Given the description of an element on the screen output the (x, y) to click on. 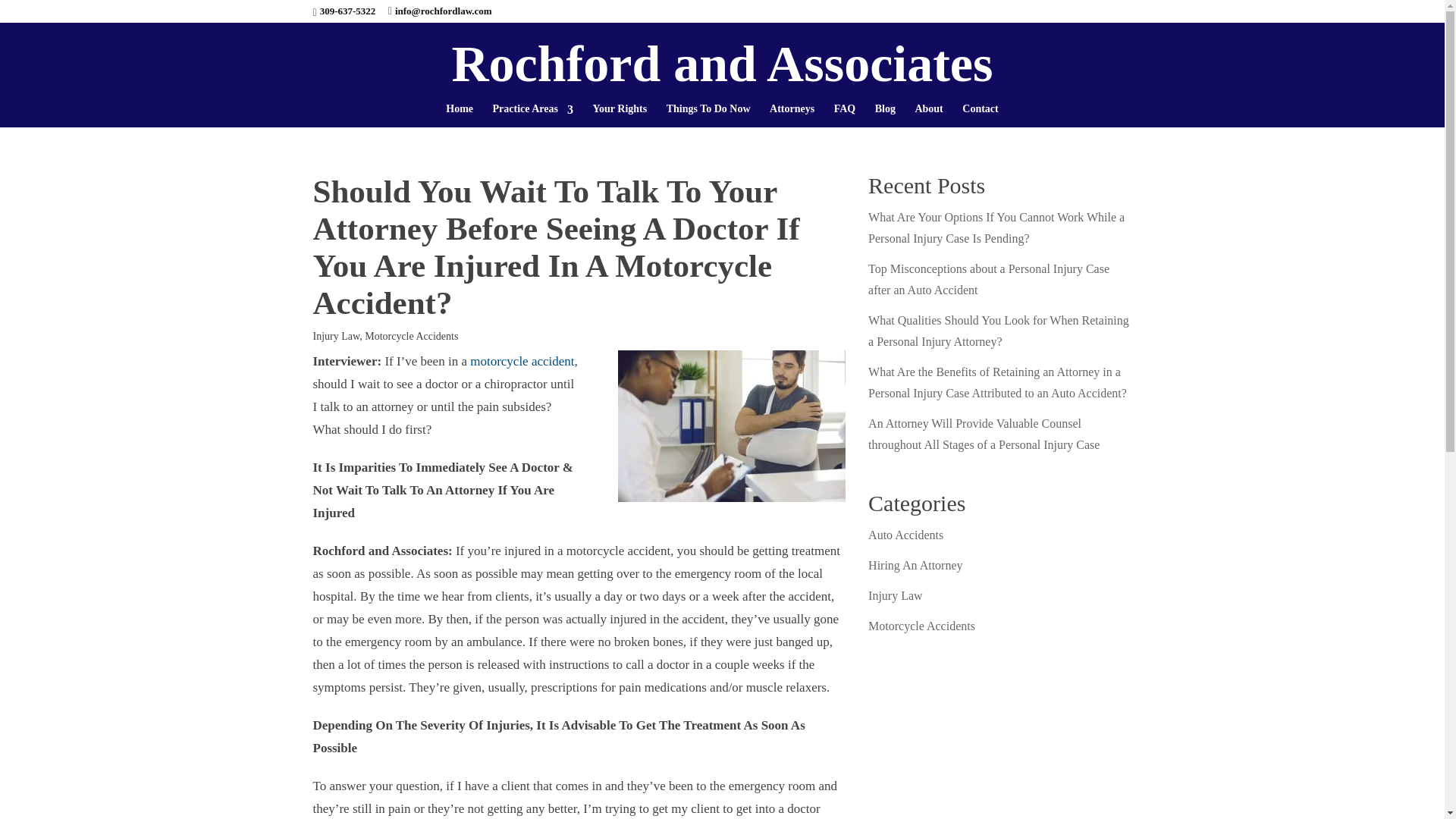
Things To Do Now (708, 109)
Home (459, 109)
Contact (979, 109)
FAQ (845, 109)
Your Rights (619, 109)
309-637-5322 (347, 10)
motorcycle accident (521, 360)
Practice Areas (533, 109)
Auto Accidents (588, 137)
Blog (885, 109)
